Given the description of an element on the screen output the (x, y) to click on. 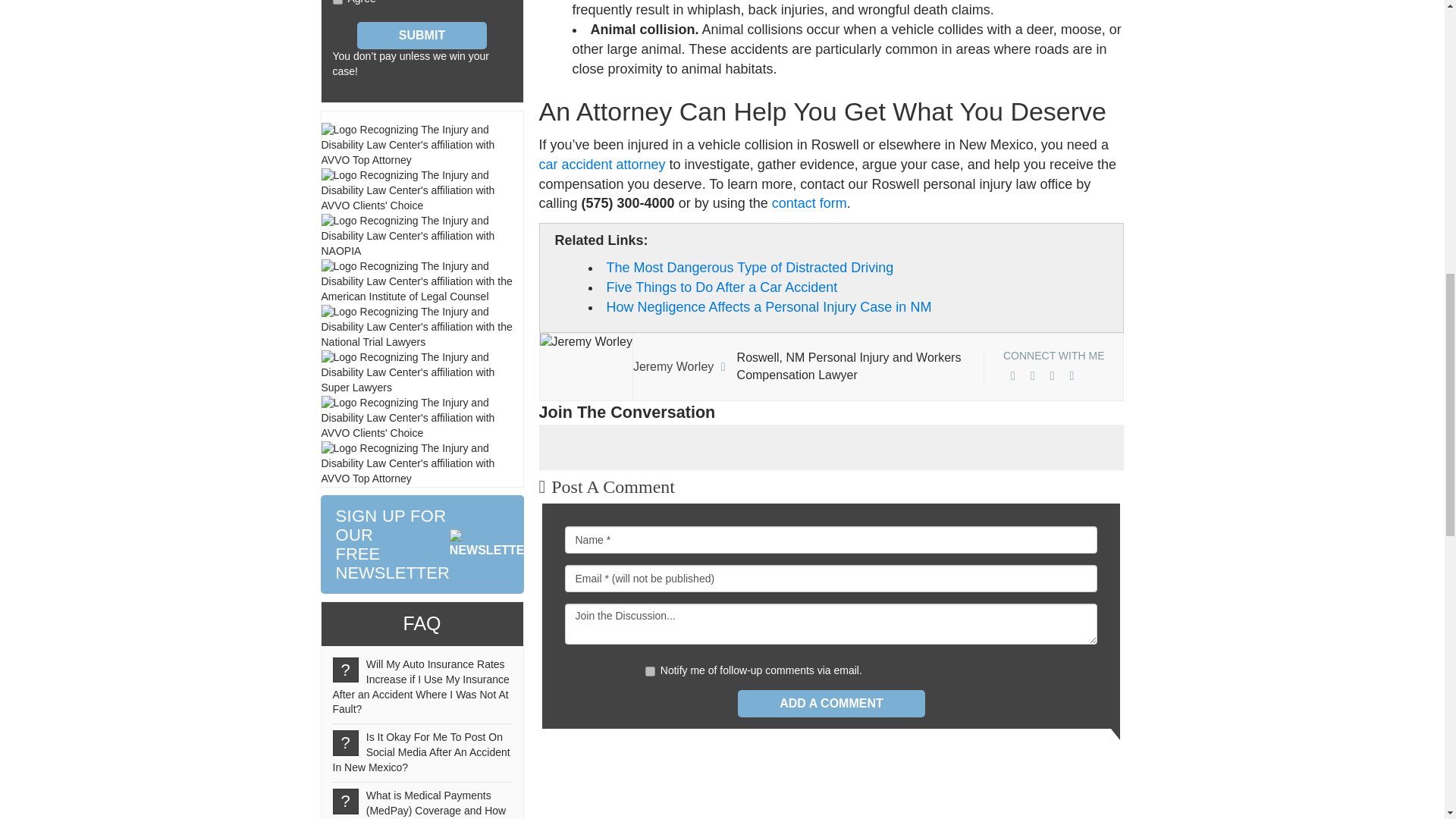
1 (650, 671)
Agree (336, 2)
FAQ (421, 623)
SUBMIT (421, 35)
car accident attorney (421, 544)
